Given the description of an element on the screen output the (x, y) to click on. 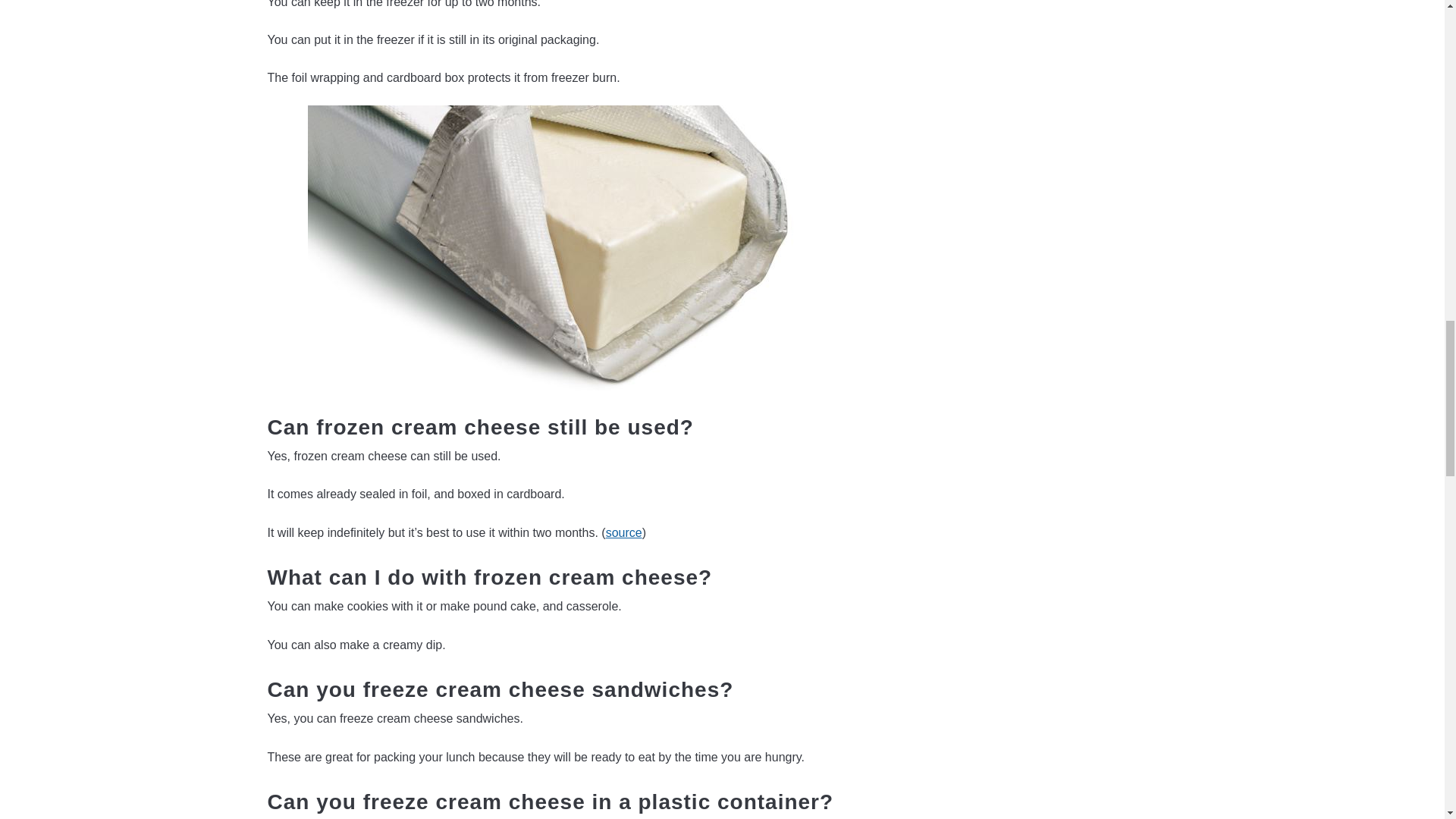
source (623, 532)
